Given the description of an element on the screen output the (x, y) to click on. 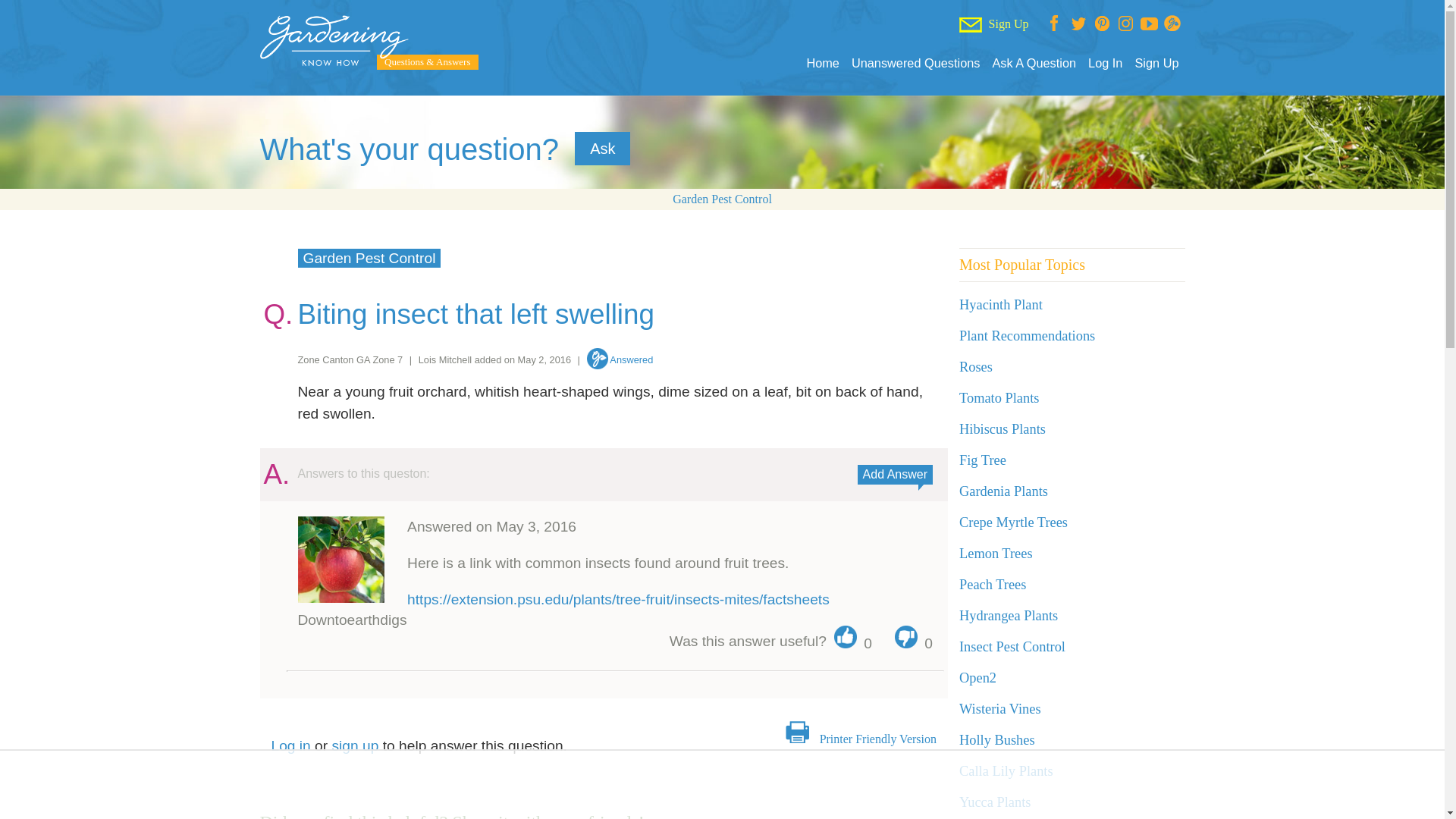
Log in (290, 745)
Hyacinth Plant (1000, 304)
Crepe Myrtle Trees (1013, 522)
Hydrangea Plants (1008, 615)
Fig Tree (982, 459)
Peach Trees (992, 584)
Unanswered Questions (916, 62)
Crepe Myrtle Trees (1013, 522)
Log In (1104, 62)
Gardenia Plants (1003, 491)
Garden Pest Control (721, 198)
Ask (602, 148)
Add Answer (895, 474)
Roses (975, 366)
Lemon Trees (995, 553)
